Given the description of an element on the screen output the (x, y) to click on. 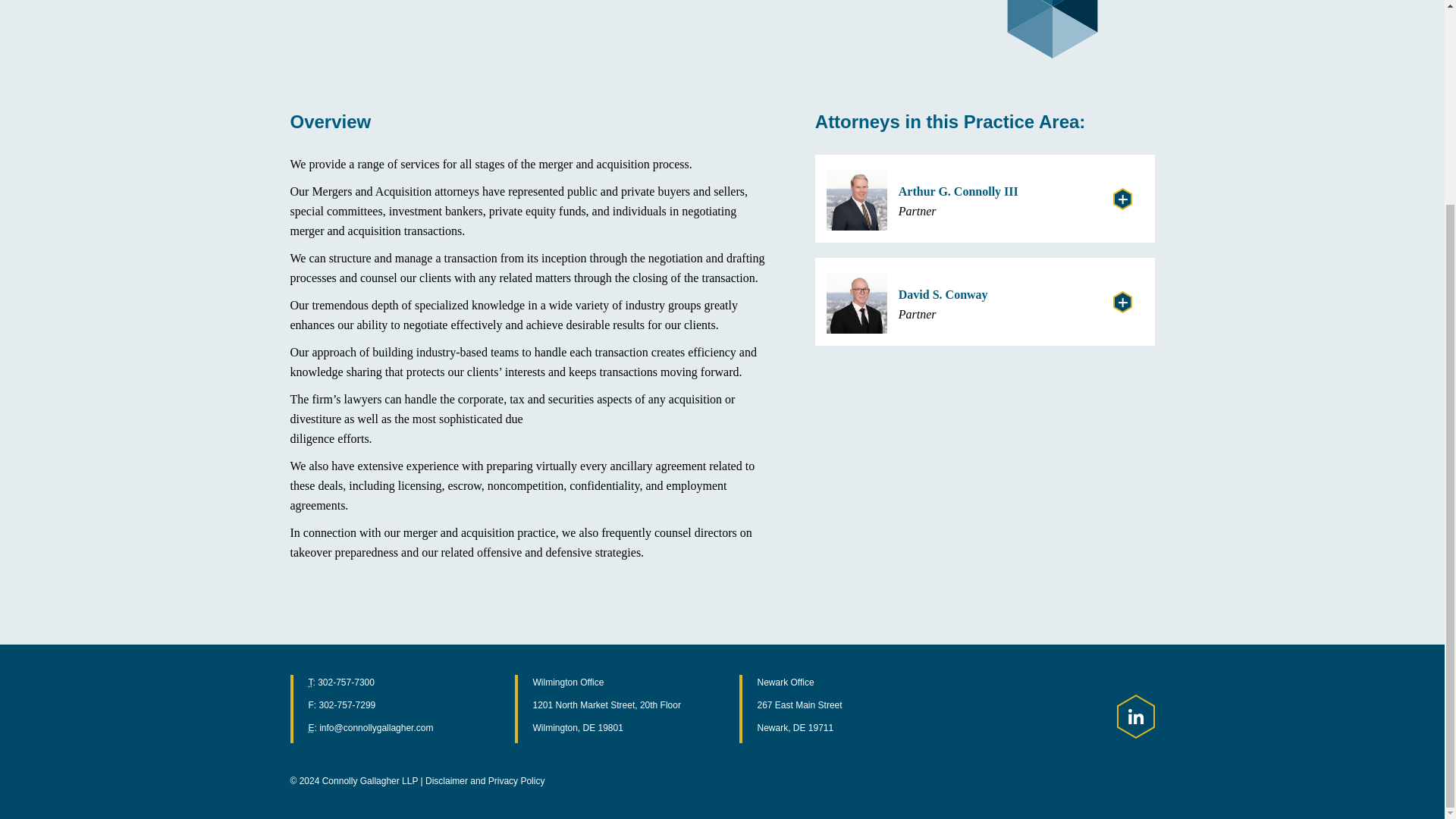
Disclaimer and Privacy Policy (984, 198)
302-757-7300 (484, 780)
